Given the description of an element on the screen output the (x, y) to click on. 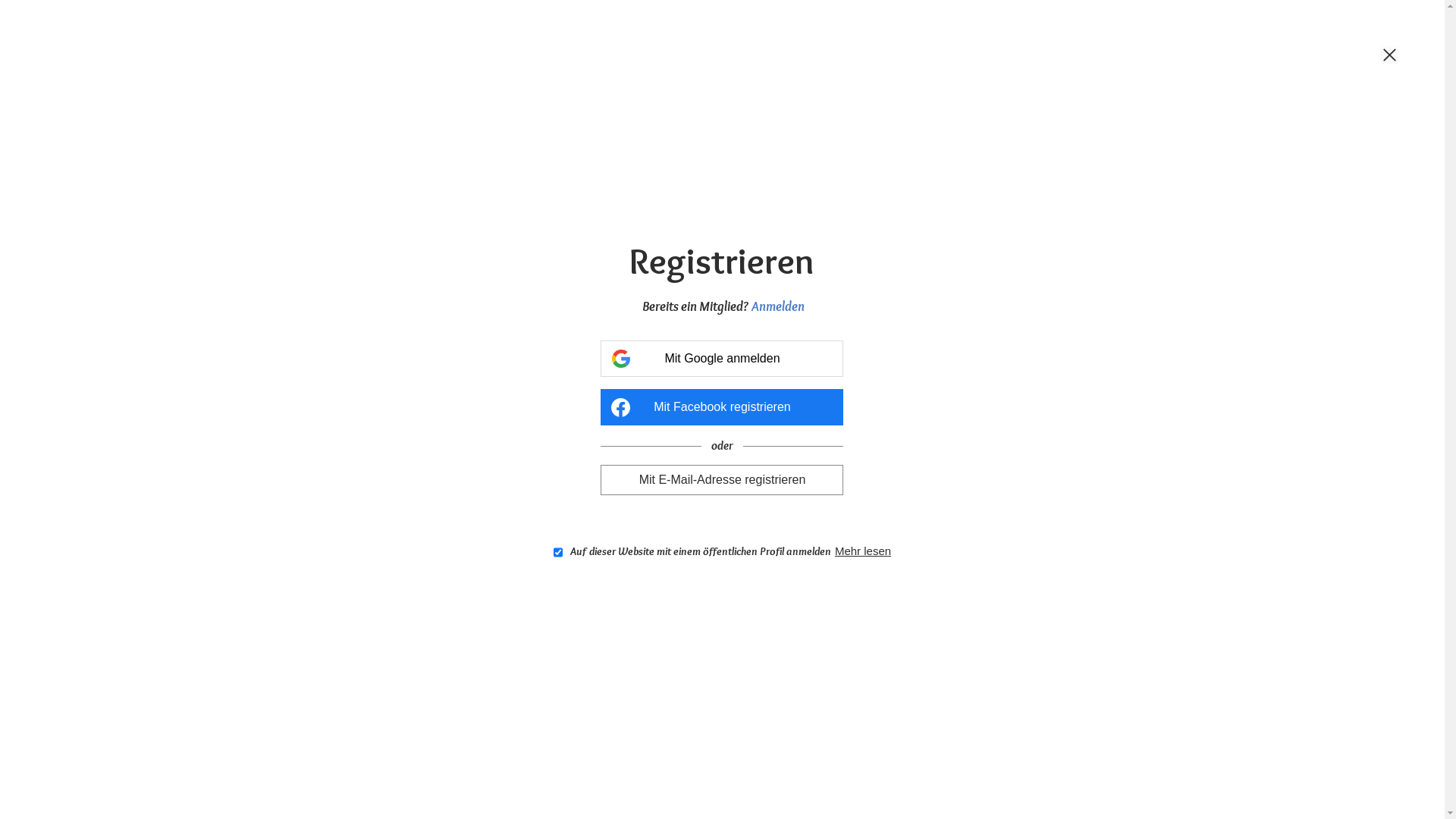
Mit Google anmelden Element type: text (721, 358)
Mehr lesen Element type: text (862, 550)
Mit Facebook registrieren Element type: text (721, 407)
Anmelden Element type: text (777, 306)
Mit E-Mail-Adresse registrieren Element type: text (721, 479)
